Given the description of an element on the screen output the (x, y) to click on. 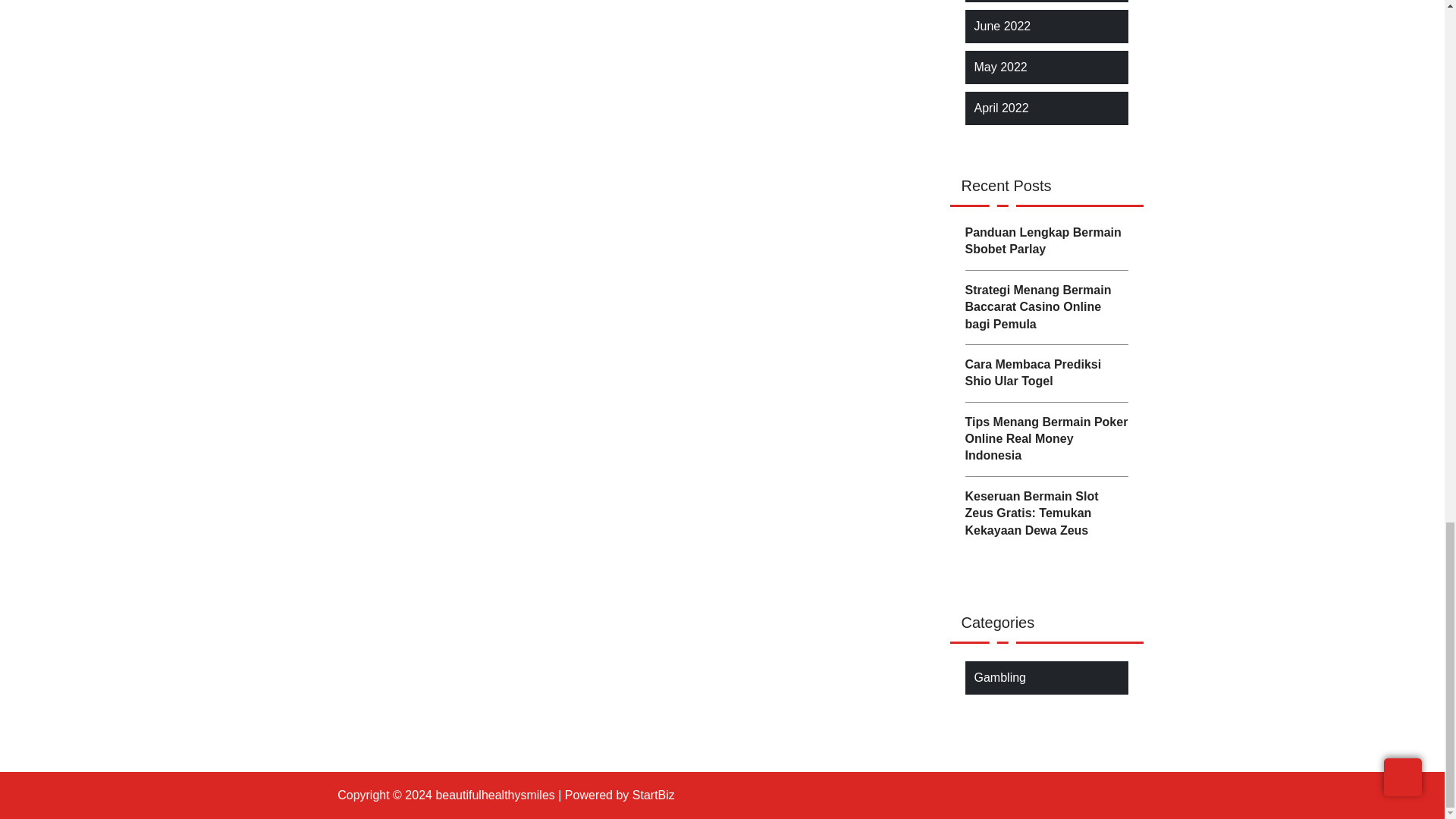
May 2022 (1000, 67)
June 2022 (1002, 26)
